Given the description of an element on the screen output the (x, y) to click on. 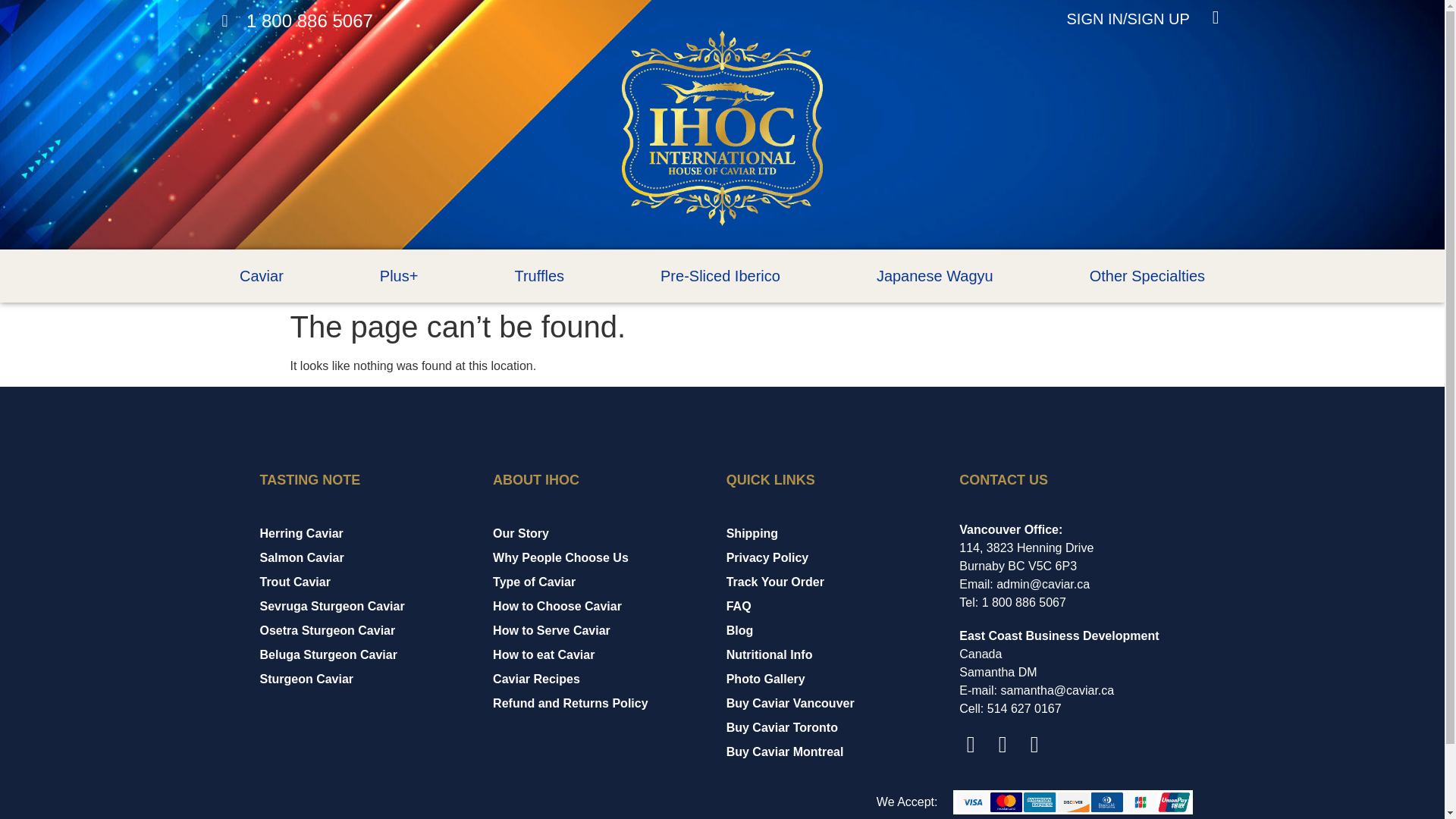
Pre-Sliced Iberico (720, 275)
1 800 886 5067 (296, 21)
Other Specialties (1146, 275)
Japanese Wagyu (934, 275)
Caviar (260, 275)
Truffles (538, 275)
